Given the description of an element on the screen output the (x, y) to click on. 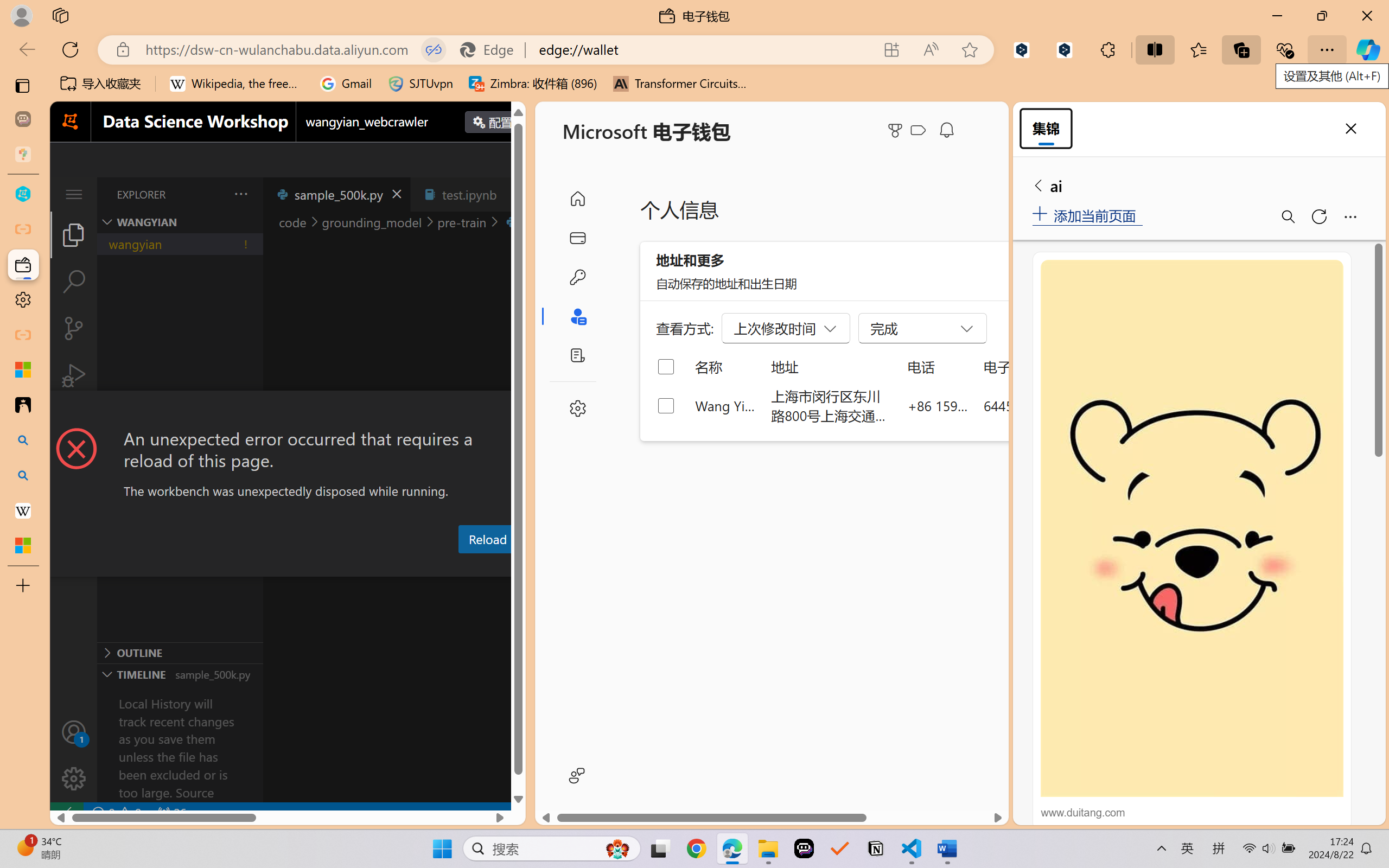
Explorer (Ctrl+Shift+E) (73, 234)
Debug Console (Ctrl+Shift+Y) (463, 565)
Class: actions-container (287, 410)
Search (Ctrl+Shift+F) (73, 281)
Close (Ctrl+F4) (512, 194)
644553698@qq.com (1043, 405)
Explorer Section: wangyian (179, 221)
